Given the description of an element on the screen output the (x, y) to click on. 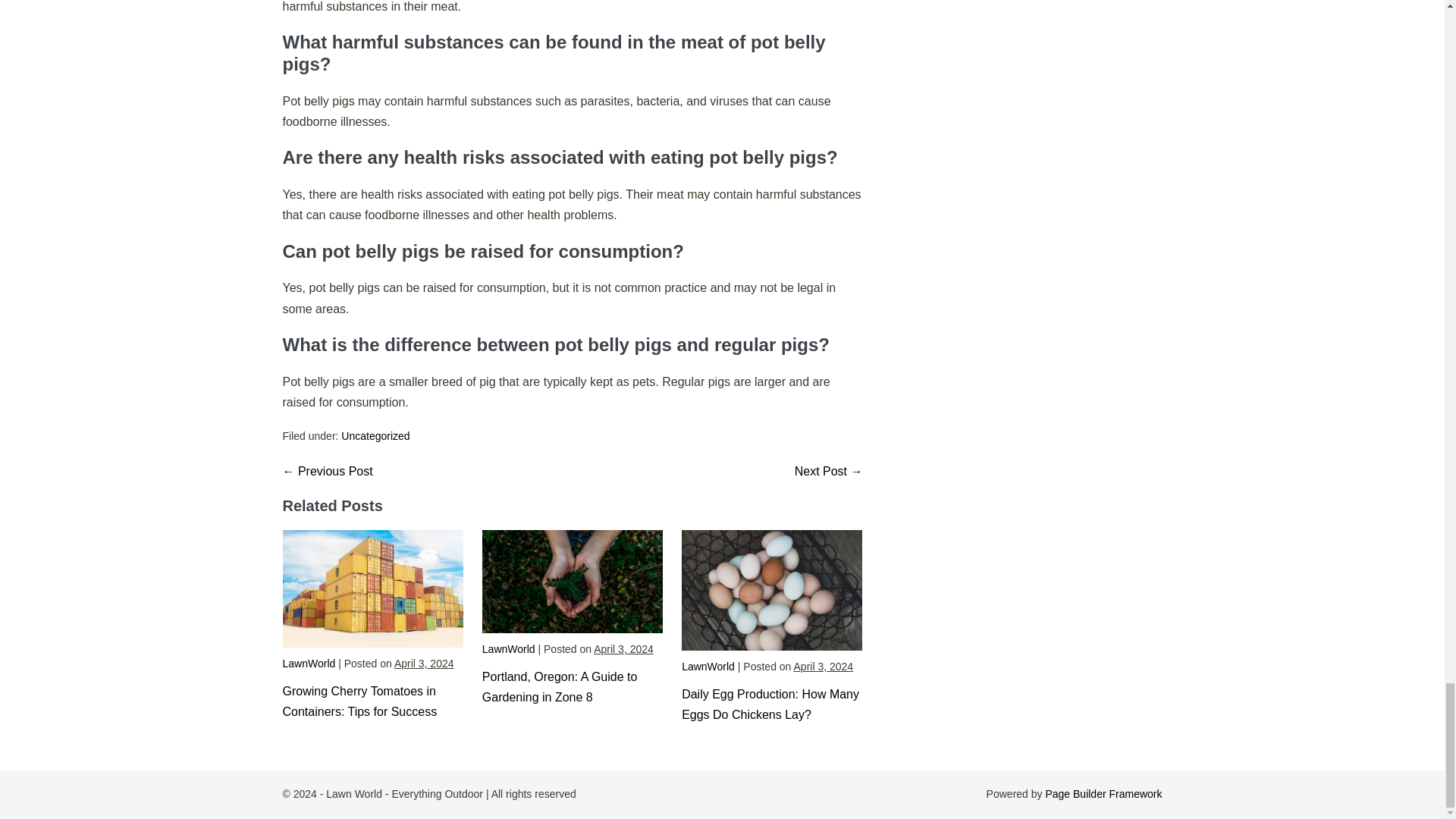
View all posts by LawnWorld (708, 666)
View all posts by LawnWorld (308, 663)
Growing Cherry Tomatoes in Containers: Tips for Success (359, 701)
Uncategorized (374, 435)
Daily Egg Production: How Many Eggs Do Chickens Lay? (770, 704)
Portland, Oregon: A Guide to Gardening in Zone 8 (559, 686)
LawnWorld (708, 666)
View all posts by LawnWorld (508, 648)
LawnWorld (508, 648)
LawnWorld (308, 663)
